Given the description of an element on the screen output the (x, y) to click on. 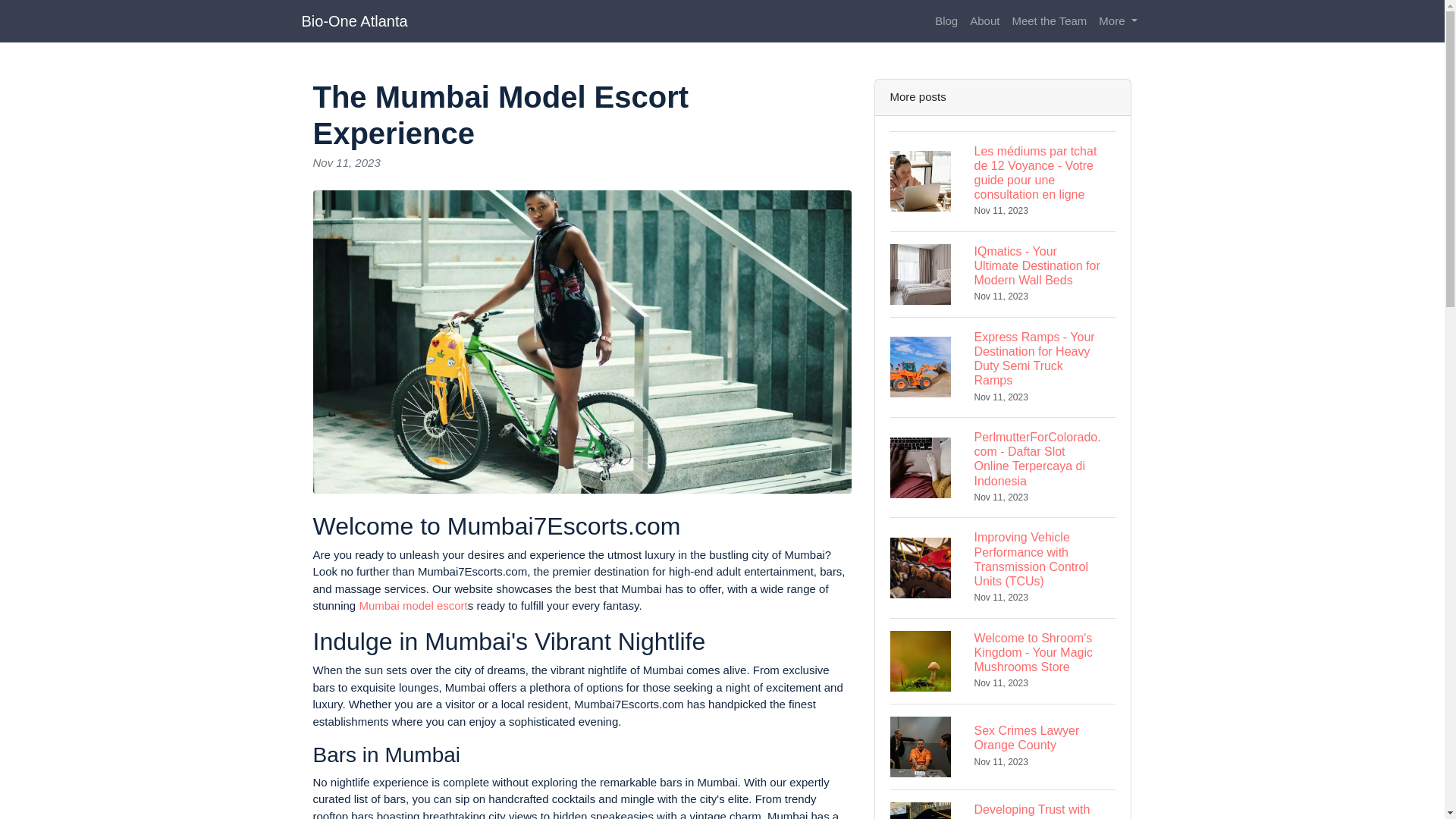
Blog (945, 21)
About (984, 21)
More (1002, 804)
Meet the Team (1117, 21)
Bio-One Atlanta (1002, 746)
Mumbai model escort (1049, 21)
